Given the description of an element on the screen output the (x, y) to click on. 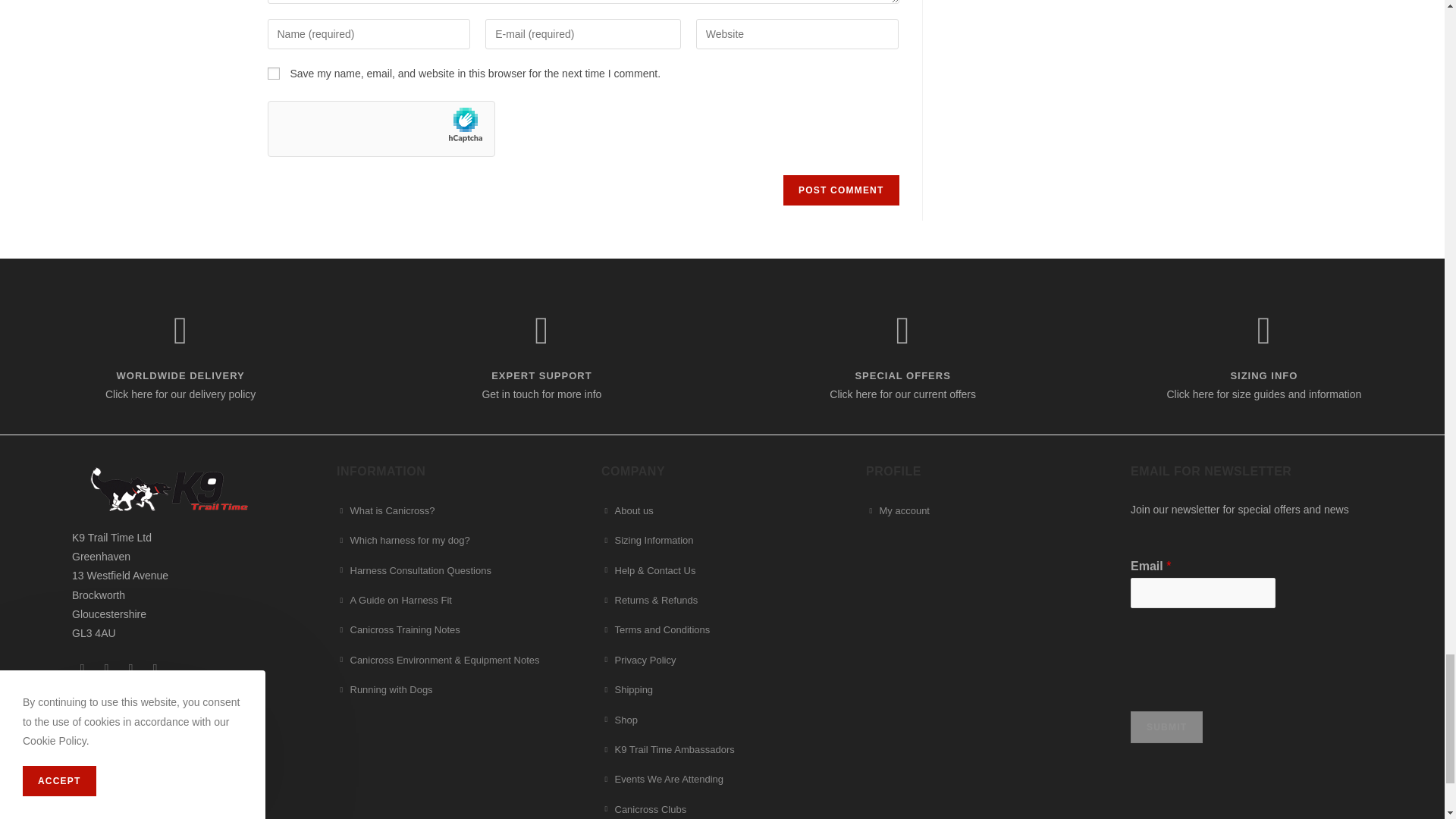
Widget containing checkbox for hCaptcha security challenge (1245, 652)
Widget containing checkbox for hCaptcha security challenge (381, 129)
Post Comment (840, 190)
yes (272, 73)
